Given the description of an element on the screen output the (x, y) to click on. 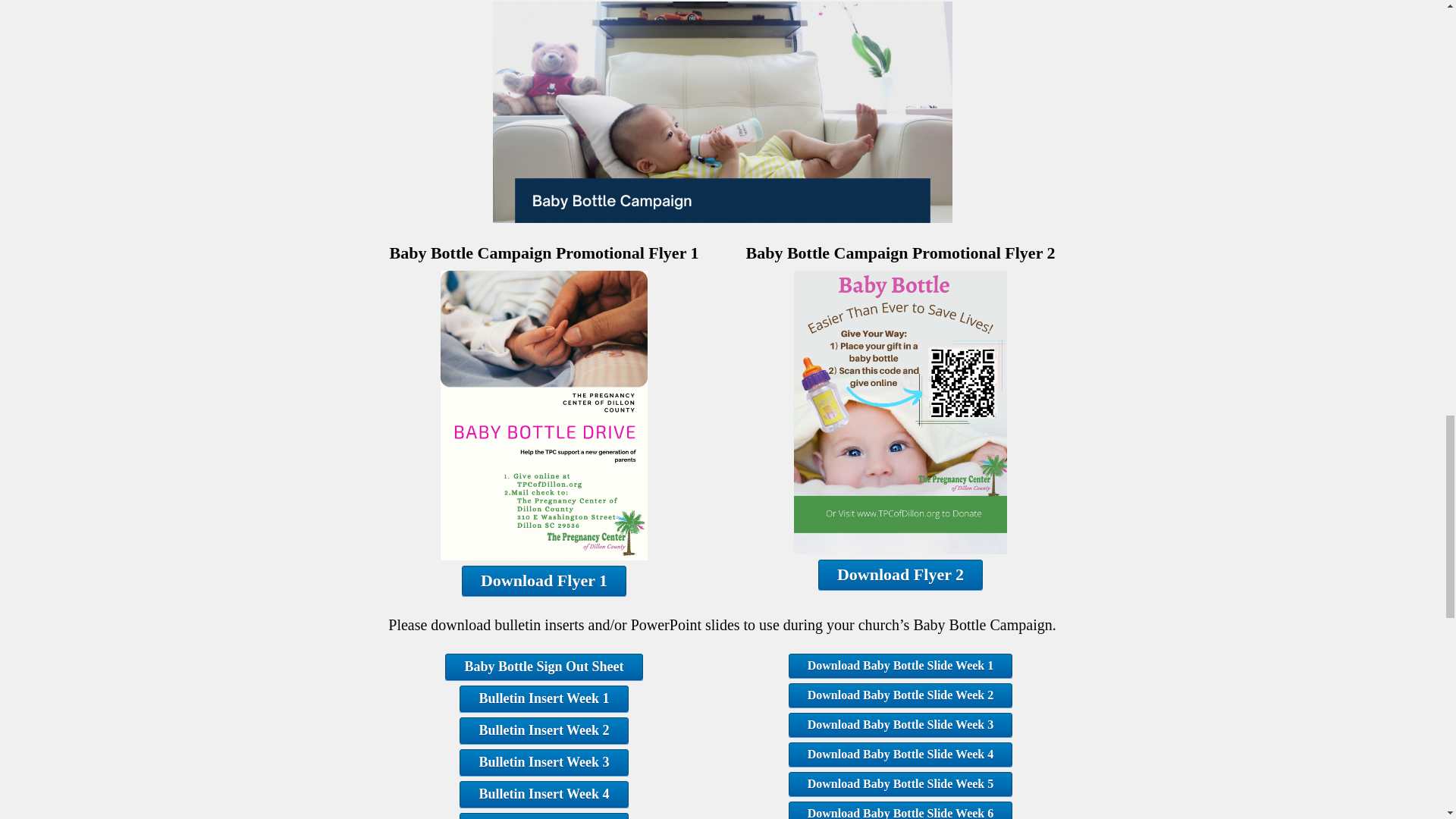
Download Flyer 1 (543, 580)
